Given the description of an element on the screen output the (x, y) to click on. 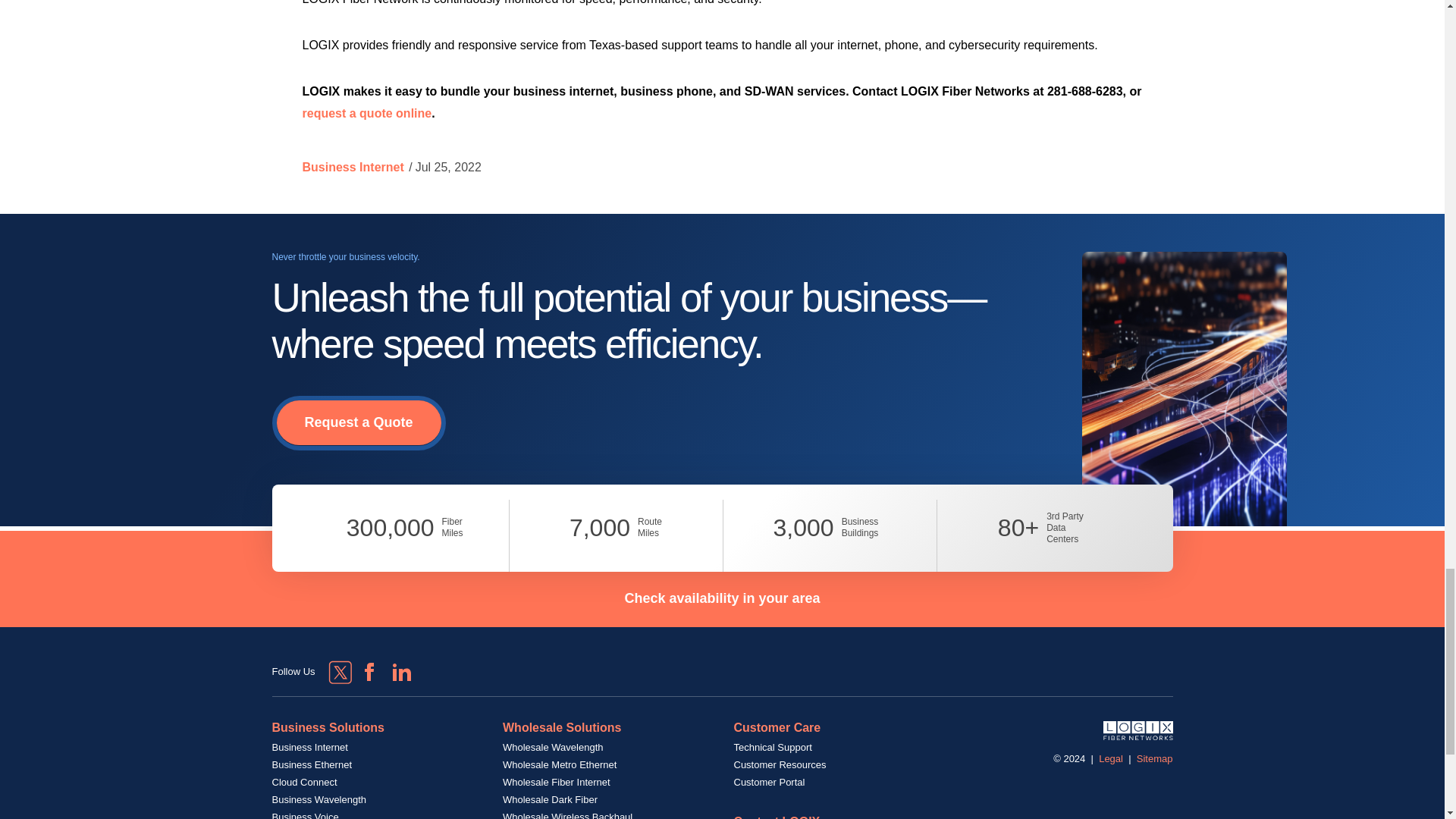
Request a Quote (357, 422)
request a quote online (365, 113)
Business Internet (352, 166)
